Given the description of an element on the screen output the (x, y) to click on. 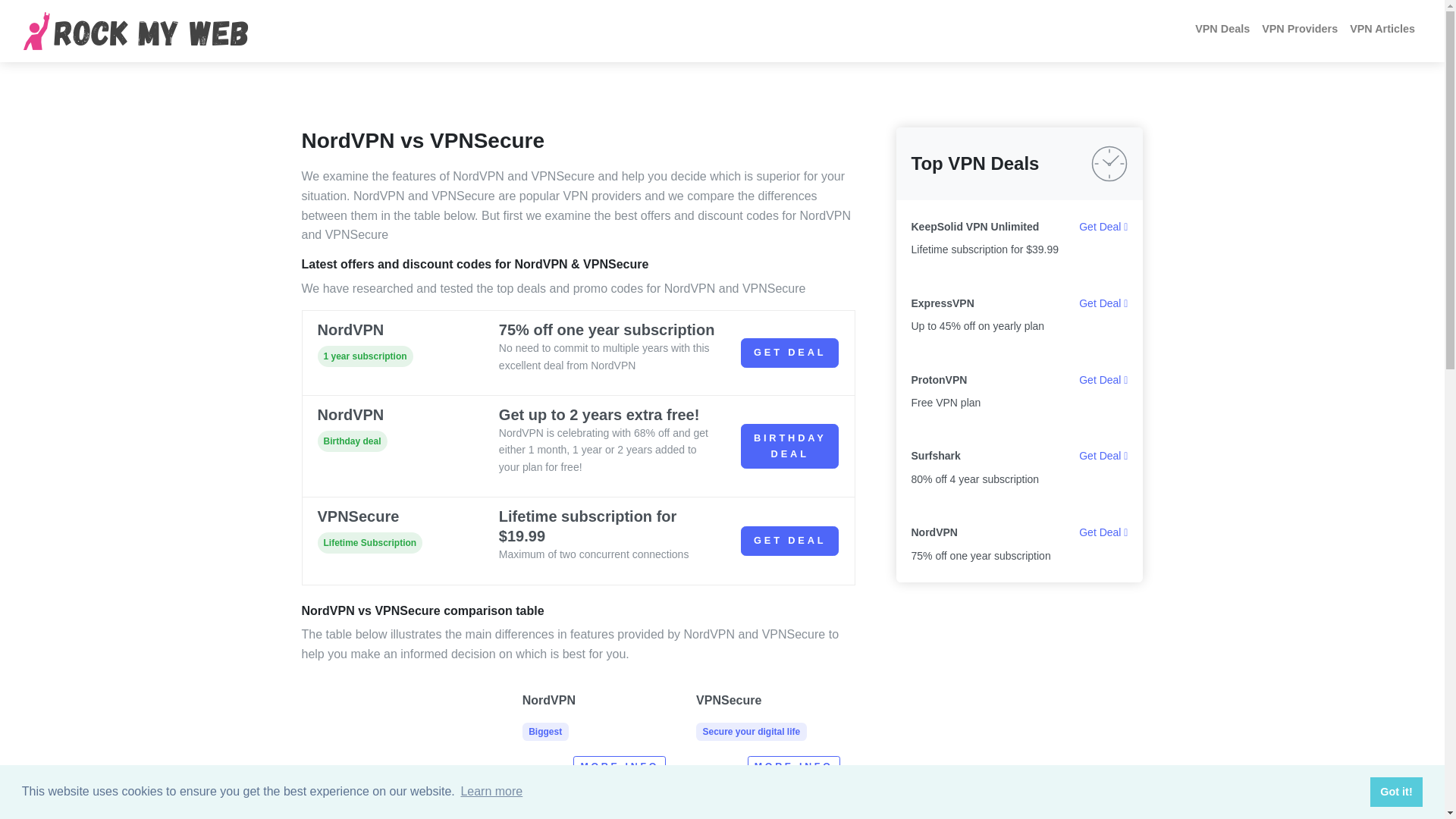
Get Deal (1102, 455)
Got it! (1396, 791)
Learn more (491, 791)
Get Deal (1102, 532)
Get Deal (1102, 226)
VPN Deals (1222, 29)
Get Deal (1102, 303)
VPN Articles (1382, 29)
GET DEAL (790, 541)
BIRTHDAY DEAL (750, 716)
MORE INFO (790, 446)
VPN Providers (794, 766)
GET DEAL (1299, 29)
Get Deal (790, 352)
